Given the description of an element on the screen output the (x, y) to click on. 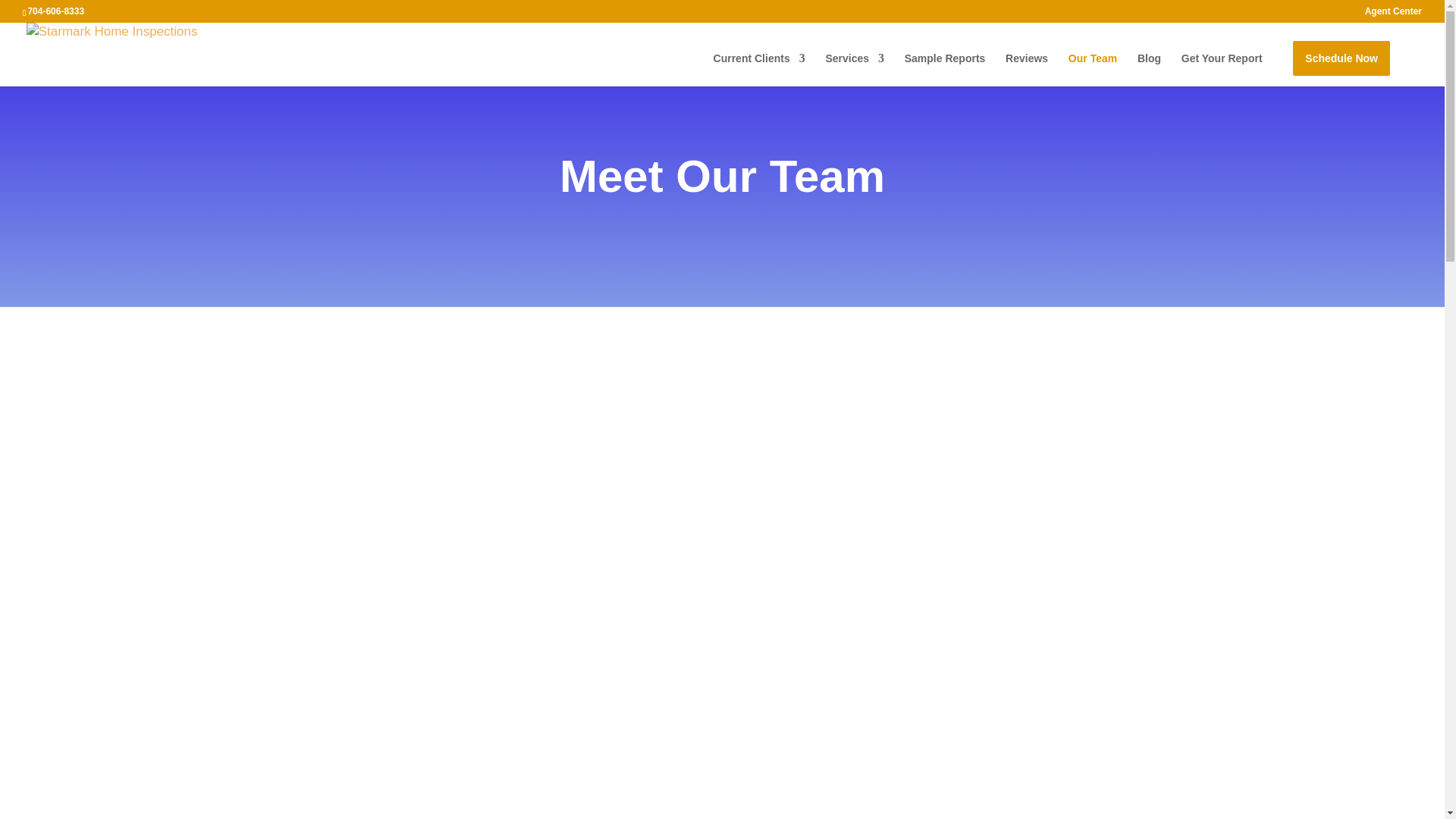
Current Clients (759, 67)
Schedule Now (1341, 58)
Reviews (1027, 67)
Agent Center (1393, 14)
Our Team (1092, 67)
Sample Reports (944, 67)
Services (854, 67)
Get Your Report (1221, 67)
